Given the description of an element on the screen output the (x, y) to click on. 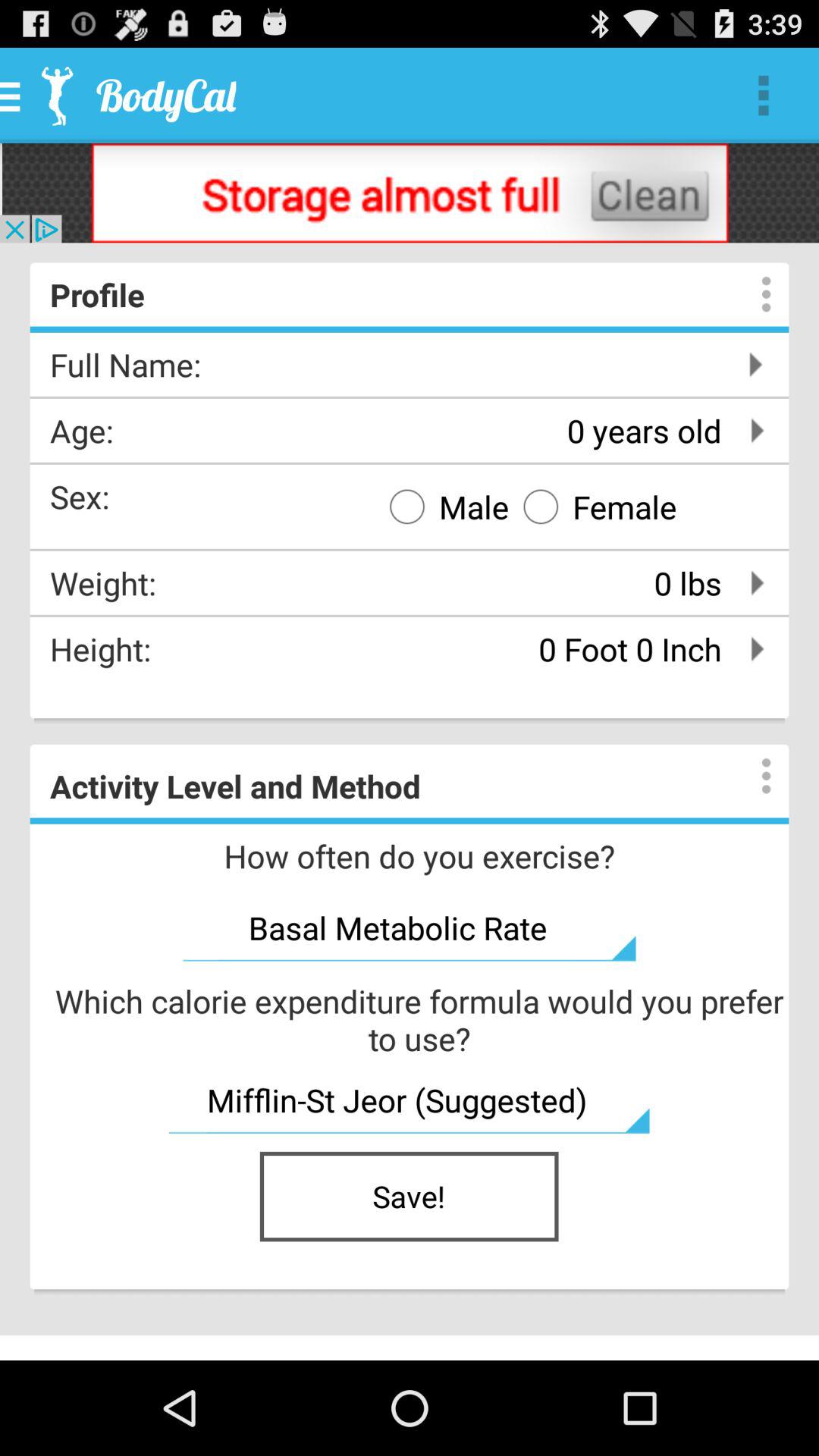
menu page (750, 776)
